Given the description of an element on the screen output the (x, y) to click on. 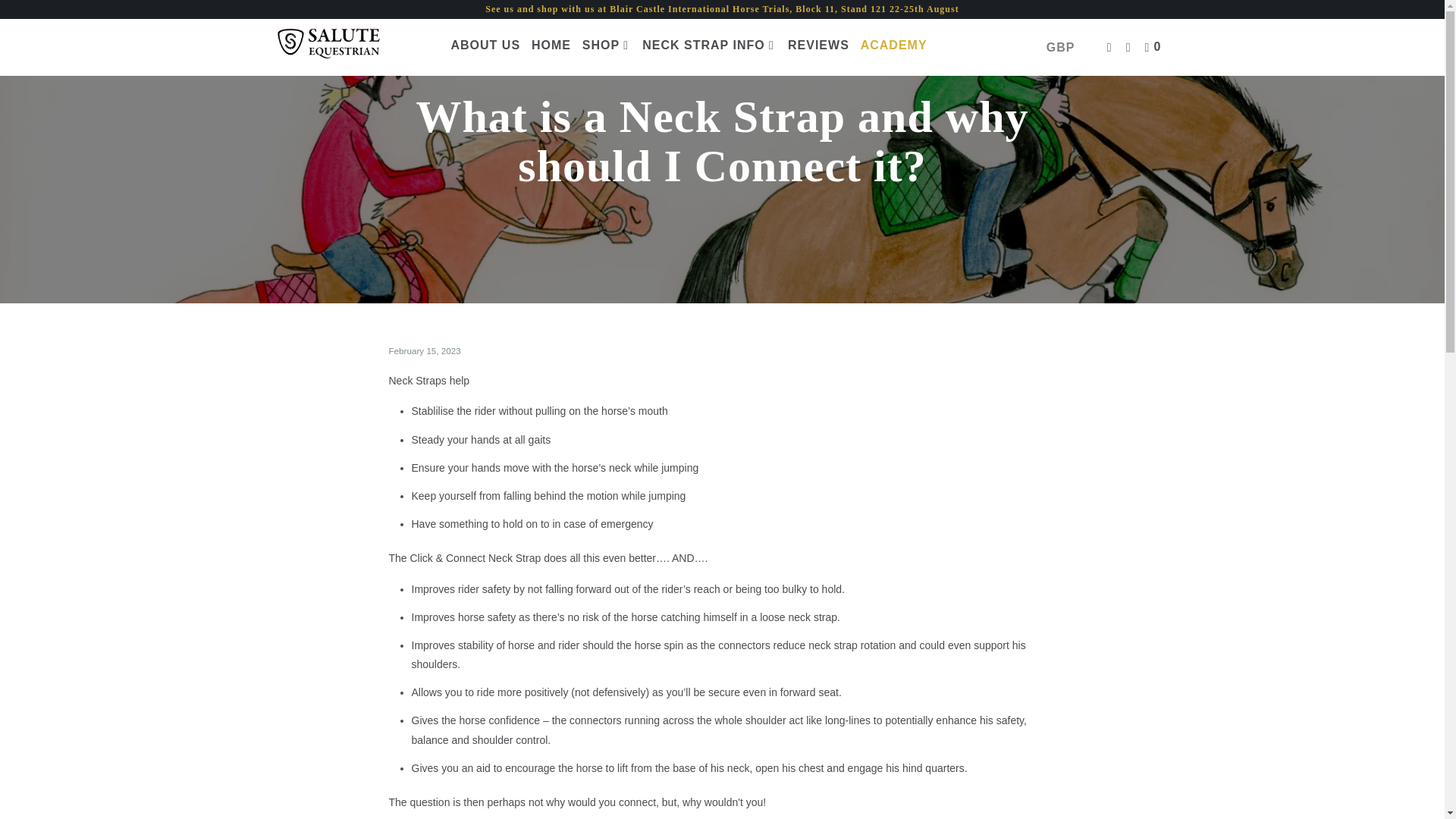
HOME (550, 44)
SHOP (606, 44)
ABOUT US (484, 44)
0 (1154, 47)
ACADEMY (893, 44)
Salute Equestrian Ltd (352, 47)
REVIEWS (817, 44)
NECK STRAP INFO (708, 44)
